Given the description of an element on the screen output the (x, y) to click on. 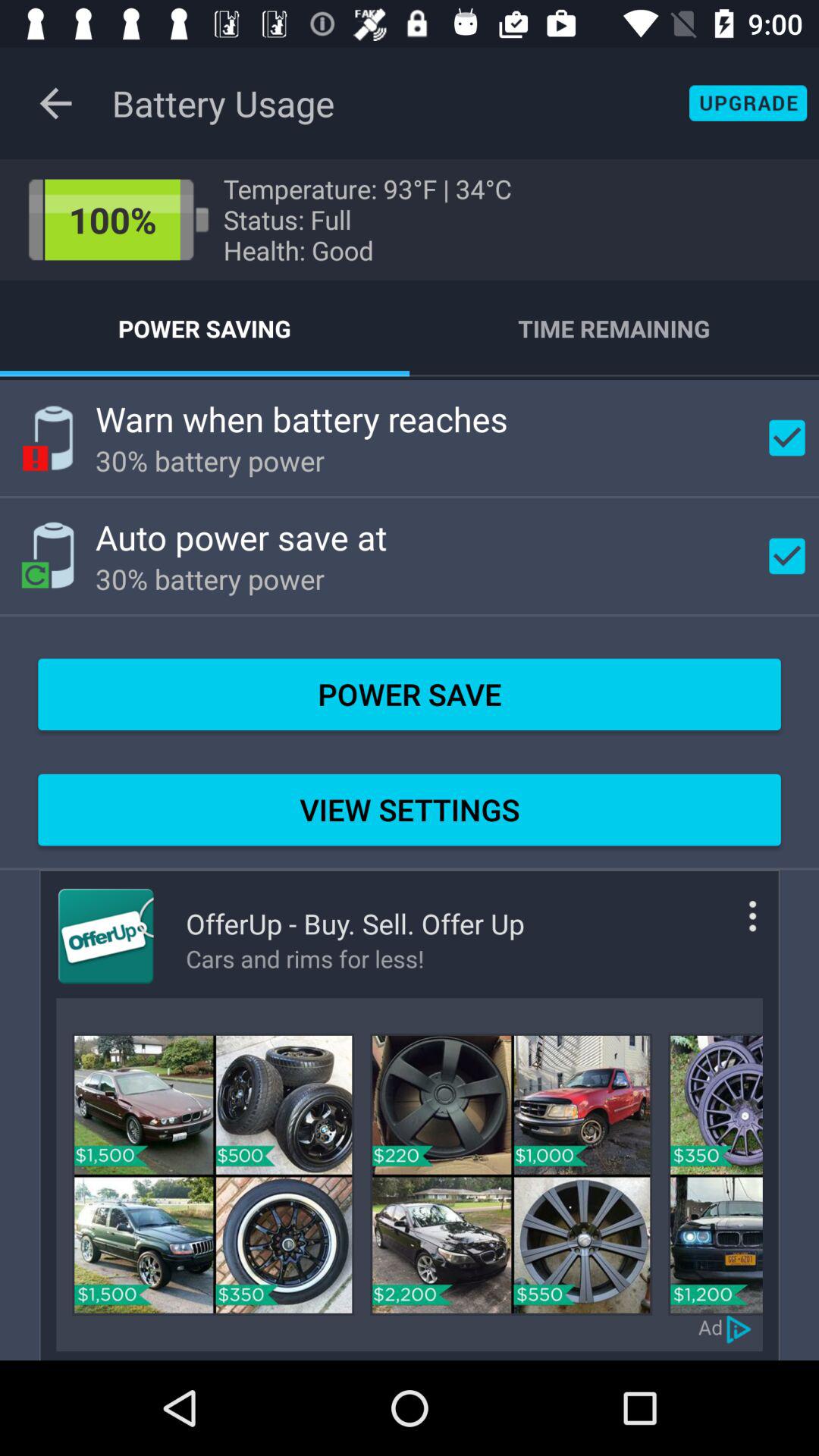
open up larger image (715, 1174)
